Given the description of an element on the screen output the (x, y) to click on. 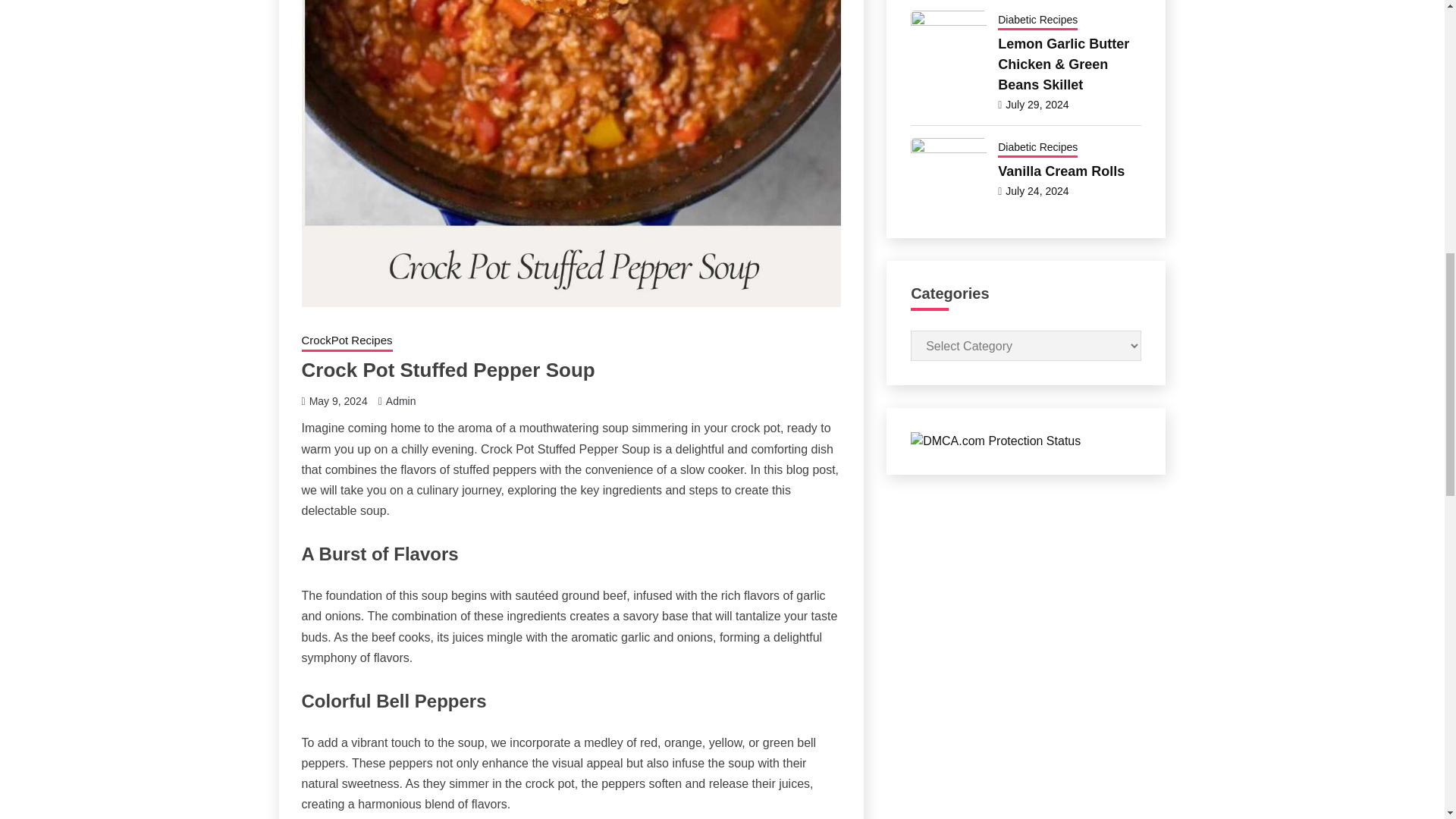
DMCA.com Protection Status (995, 440)
Admin (400, 400)
May 9, 2024 (338, 400)
CrockPot Recipes (347, 342)
